Given the description of an element on the screen output the (x, y) to click on. 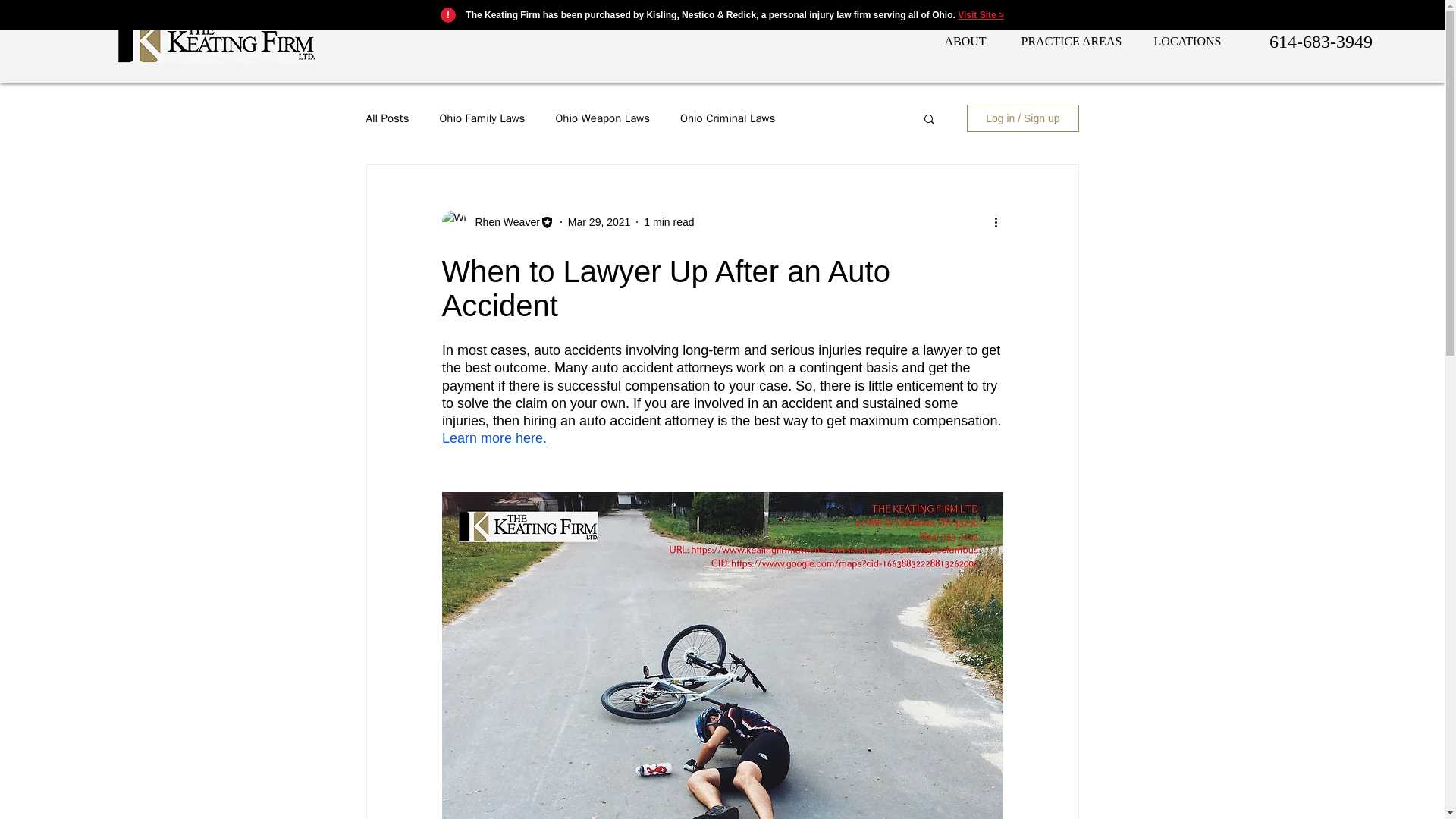
Rhen Weaver (501, 221)
ABOUT (962, 41)
Learn more here. (493, 437)
LOCATIONS (1188, 41)
1 min read (668, 221)
Ohio Family Laws (481, 117)
Mar 29, 2021 (598, 221)
Ohio Criminal Laws (726, 117)
All Posts (387, 117)
614-683-3949 (1320, 41)
Ohio Weapon Laws (601, 117)
